Given the description of an element on the screen output the (x, y) to click on. 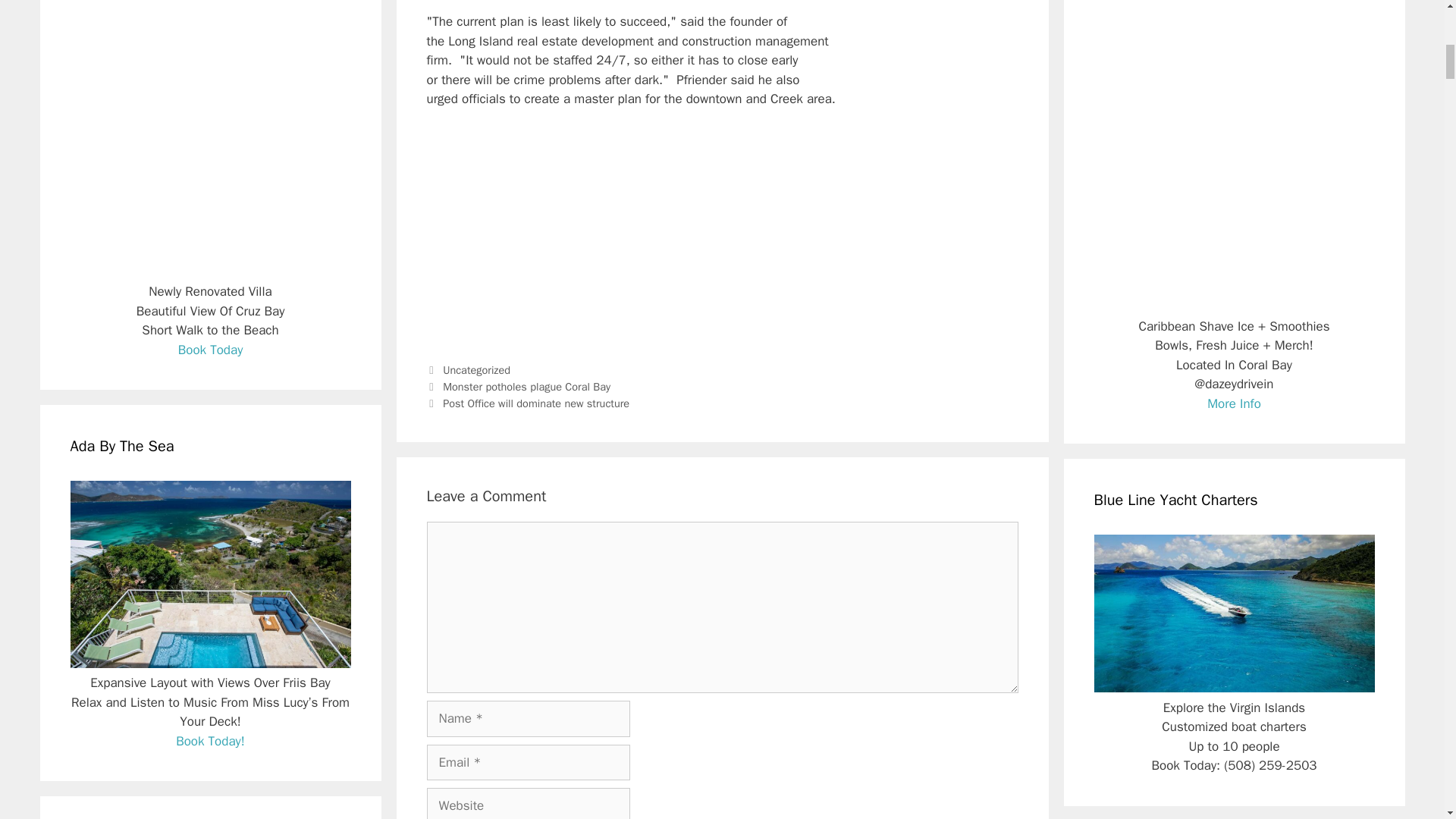
Previous (518, 386)
Next (527, 403)
Monster potholes plague Coral Bay (526, 386)
Post Office will dominate new structure (535, 403)
Advertisement (721, 233)
Uncategorized (476, 369)
